Given the description of an element on the screen output the (x, y) to click on. 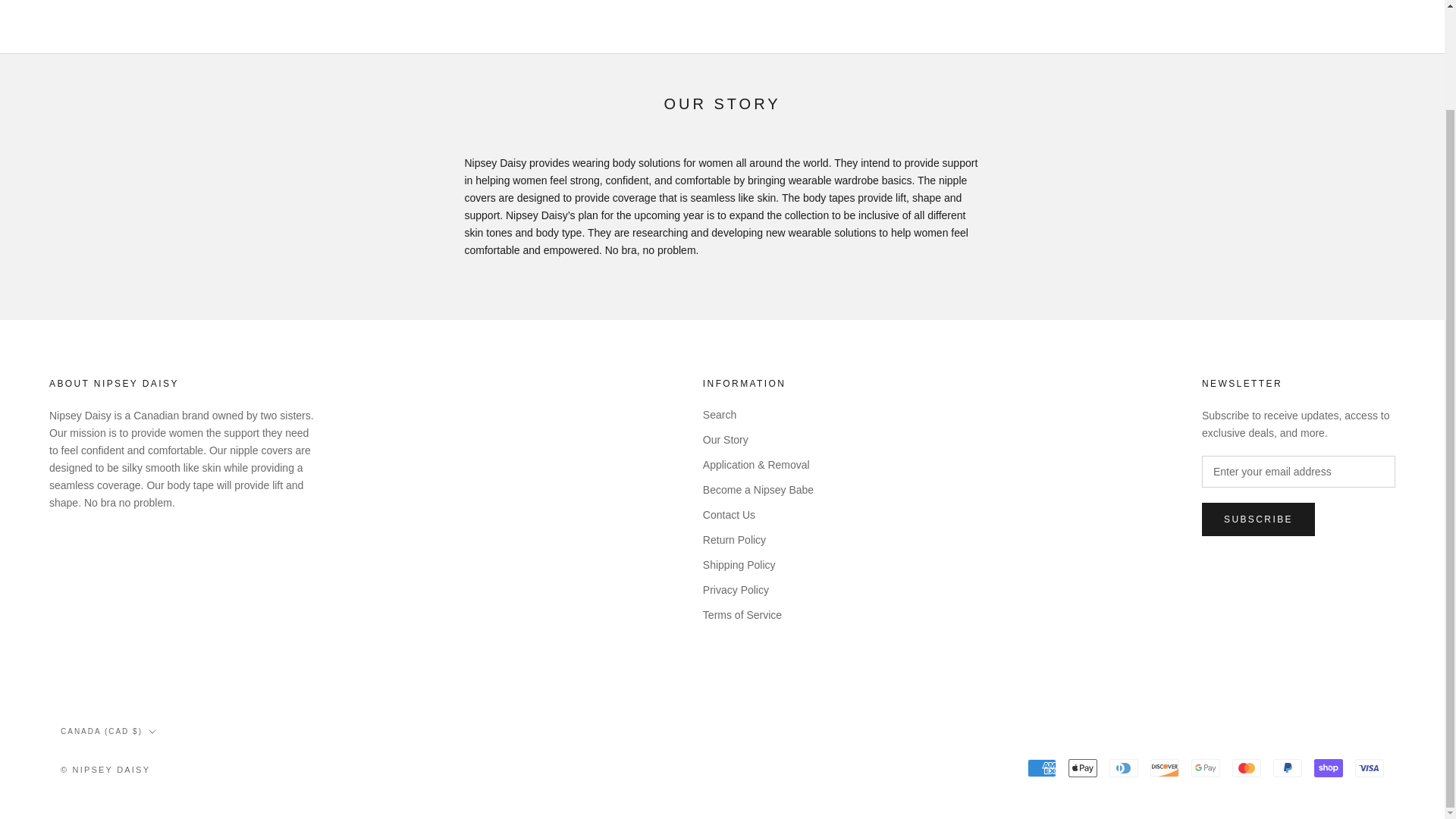
AX (223, 783)
PayPal (1286, 768)
Privacy Policy (758, 590)
Google Pay (1205, 768)
Become a Nipsey Babe (758, 489)
Shipping Policy (758, 565)
Terms of Service (758, 615)
American Express (1042, 768)
Mastercard (1245, 768)
Discover (1164, 768)
